Given the description of an element on the screen output the (x, y) to click on. 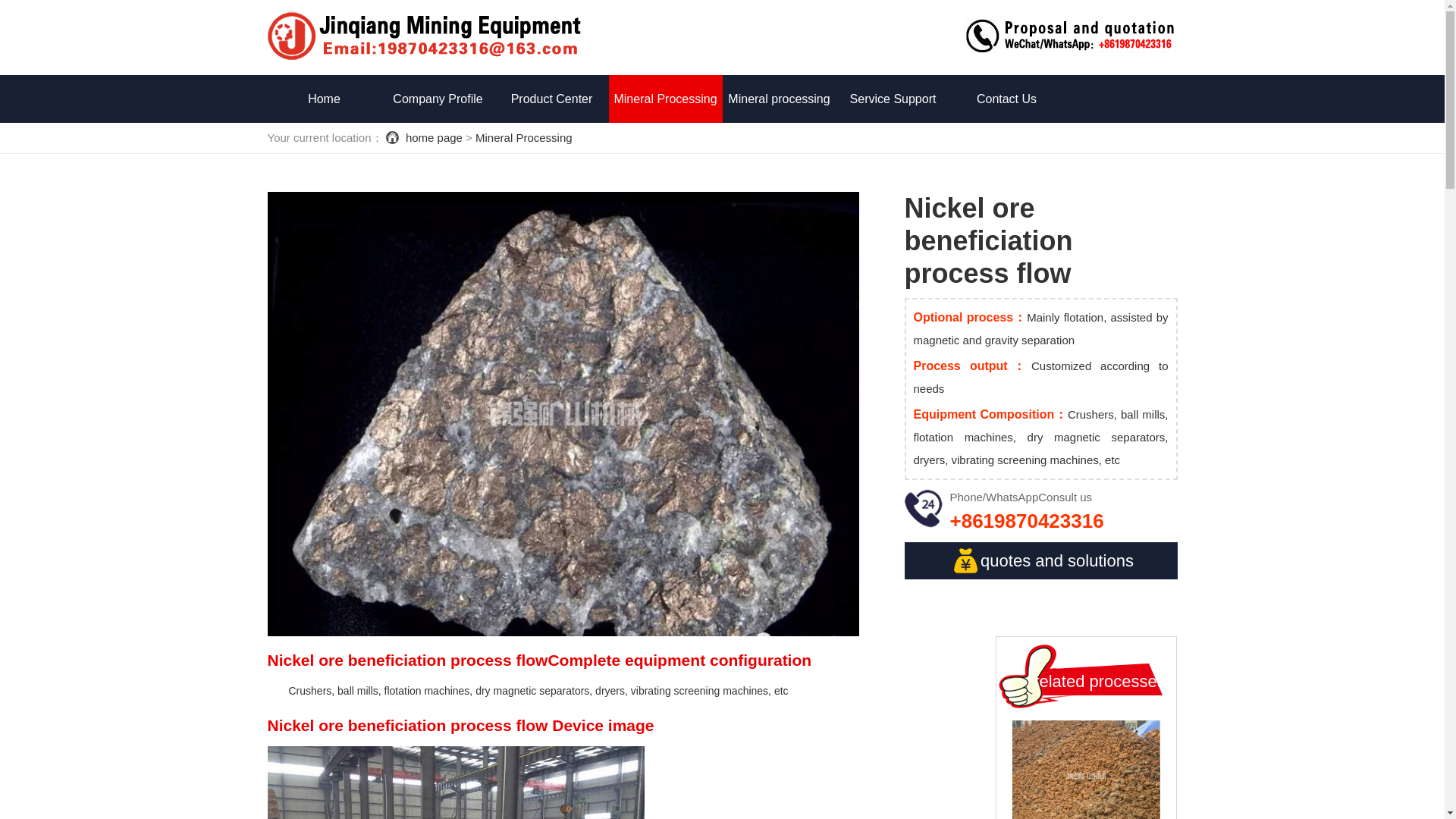
Product Center (551, 98)
Mineral processing knowledge (778, 122)
Mineral Processing (665, 98)
Home (323, 98)
Service Support (892, 98)
Contact Us (1005, 98)
Zinc oxide beneficiation process (1085, 769)
home page (434, 137)
Mineral Processing (524, 137)
Company Profile (437, 98)
quotes and solutions (1040, 560)
